Given the description of an element on the screen output the (x, y) to click on. 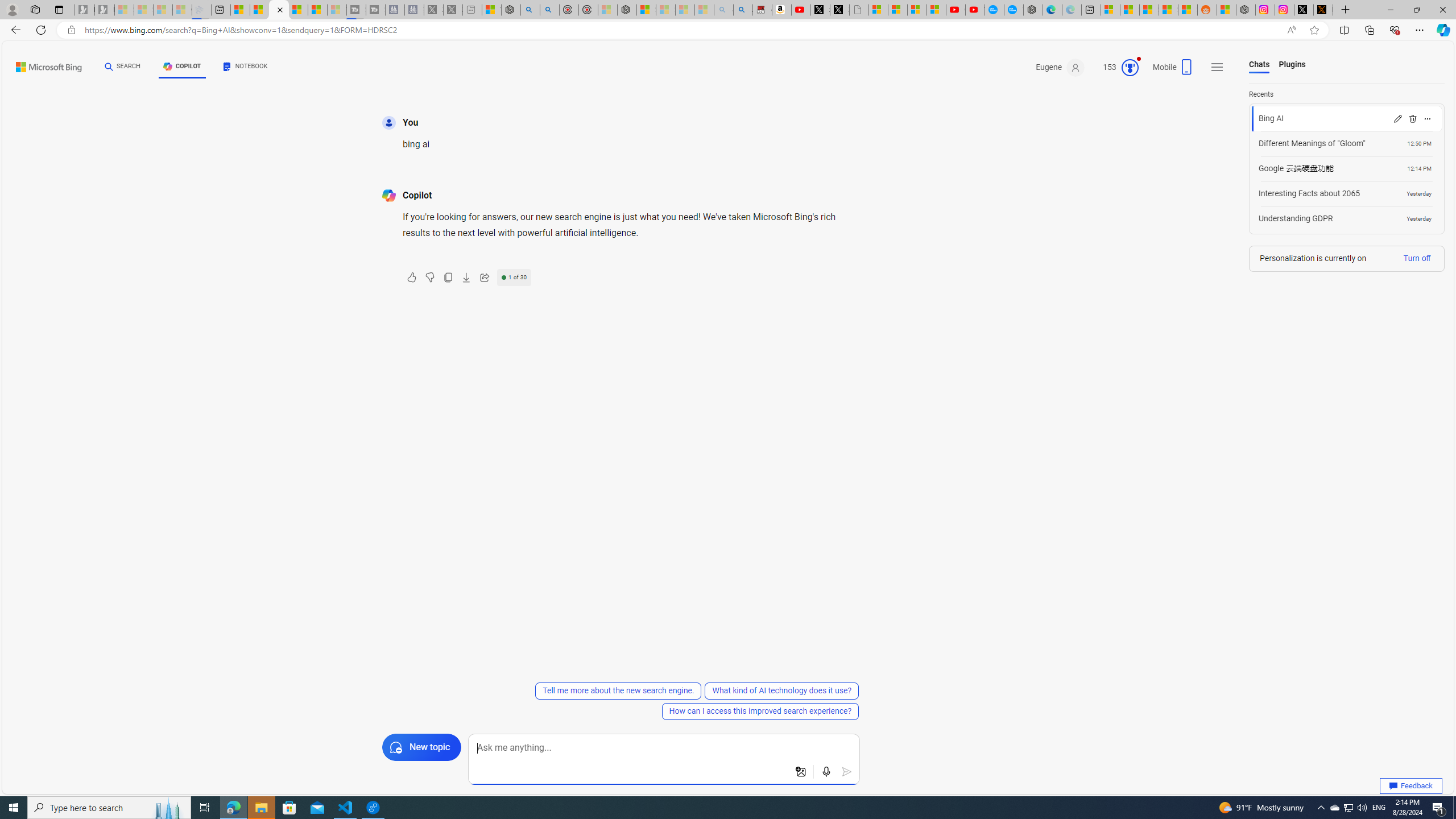
Mobile (1173, 70)
Shanghai, China hourly forecast | Microsoft Weather (1148, 9)
Chat (109, 65)
Tell me more about the new search engine. (618, 690)
Share (484, 277)
poe - Search (529, 9)
Class: medal-circled (1129, 67)
Microsoft account | Microsoft Account Privacy Settings (1110, 9)
Gloom - YouTube (954, 9)
